Given the description of an element on the screen output the (x, y) to click on. 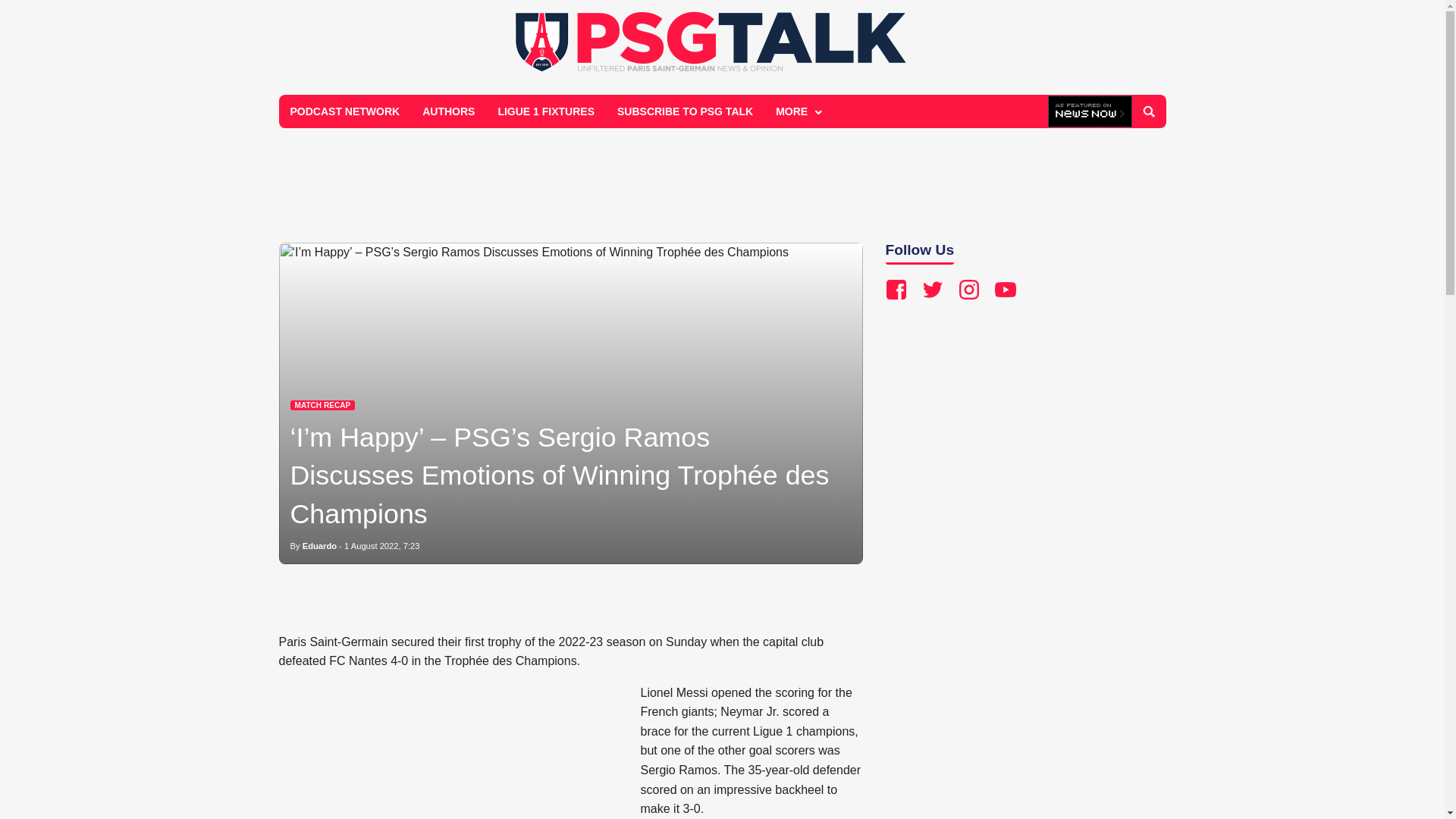
MORE (796, 111)
PODCAST NETWORK (345, 111)
MATCH RECAP (322, 405)
Search (1147, 111)
Click here for more PSG news from NewsNow (1090, 111)
LIGUE 1 FIXTURES (545, 111)
AUTHORS (448, 111)
1 August 2022, 7:23 (381, 545)
Eduardo (319, 545)
SUBSCRIBE TO PSG TALK (684, 111)
Latest Match Recap News (322, 405)
